Given the description of an element on the screen output the (x, y) to click on. 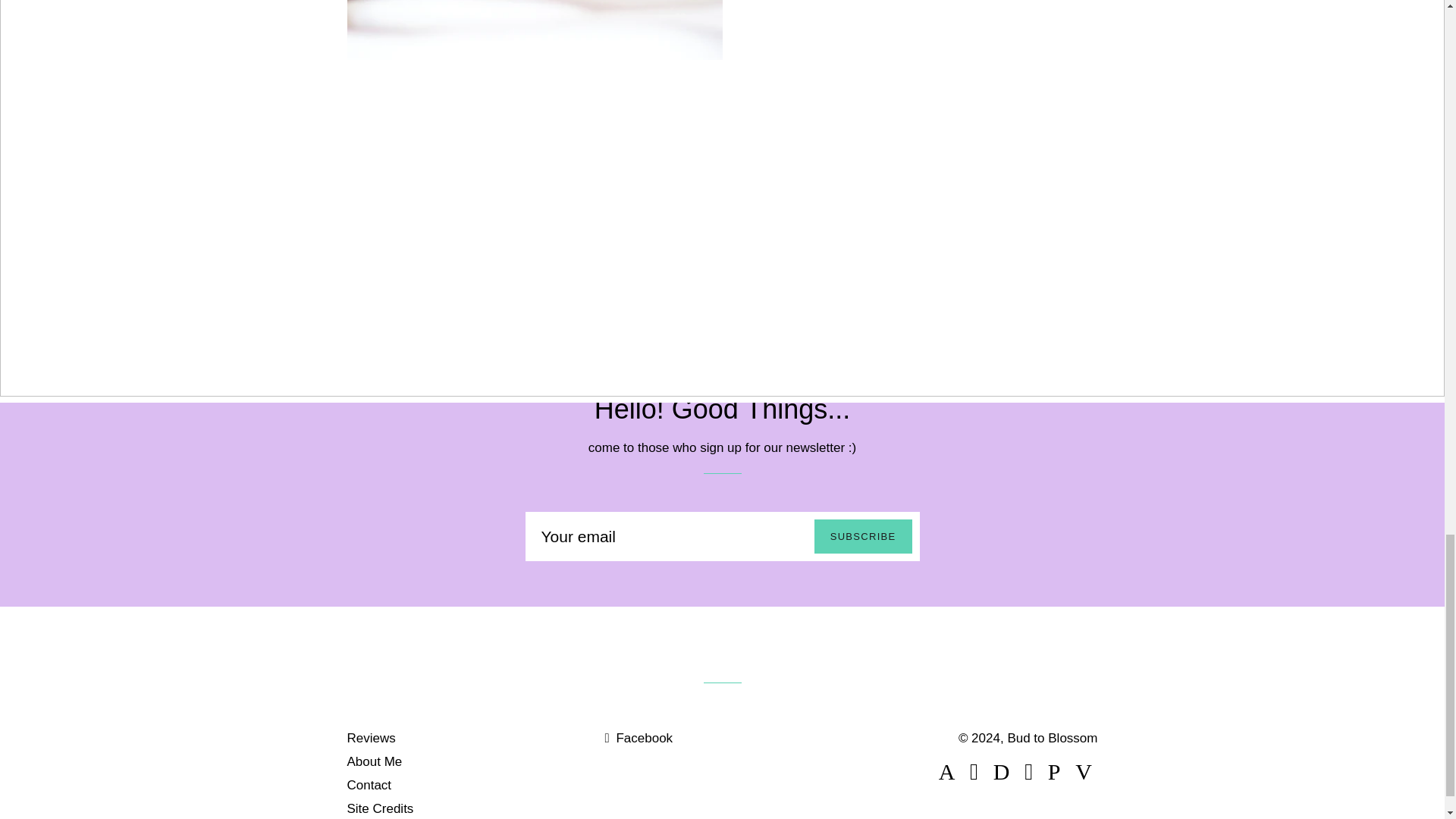
Reviews (884, 137)
Facebook (638, 738)
Read Reviews (884, 137)
Reviews (371, 738)
Site Credits (380, 808)
About Me (375, 761)
Contact (369, 785)
SUBSCRIBE (862, 536)
Bud to Blossom (1052, 738)
Bud to Blossom on Facebook (638, 738)
